Given the description of an element on the screen output the (x, y) to click on. 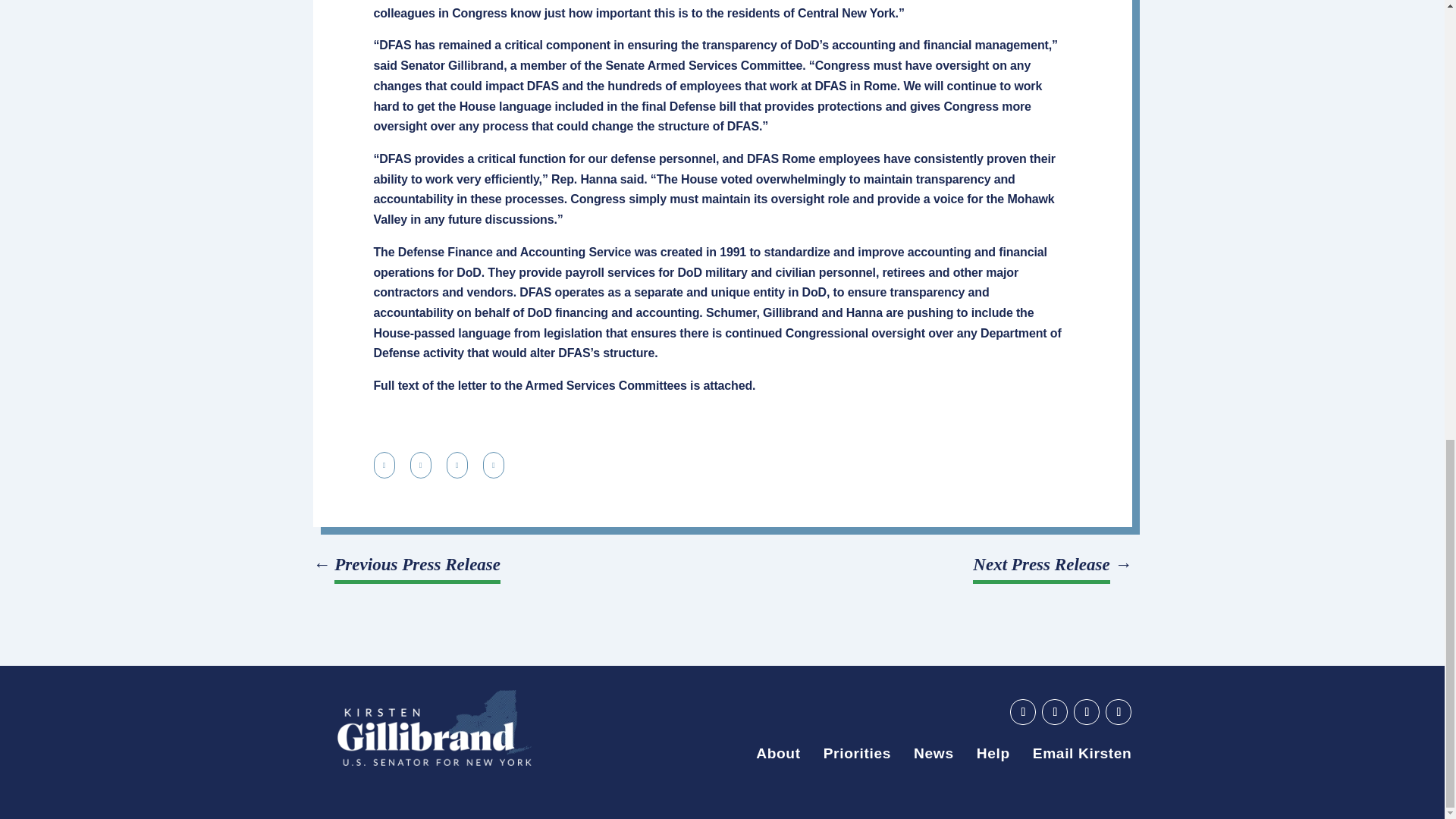
Follow on Instagram (1118, 711)
Follow on Twitter (1086, 711)
Follow on Youtube (1022, 711)
Follow on Facebook (1054, 711)
gillibrand-logo (434, 727)
